Given the description of an element on the screen output the (x, y) to click on. 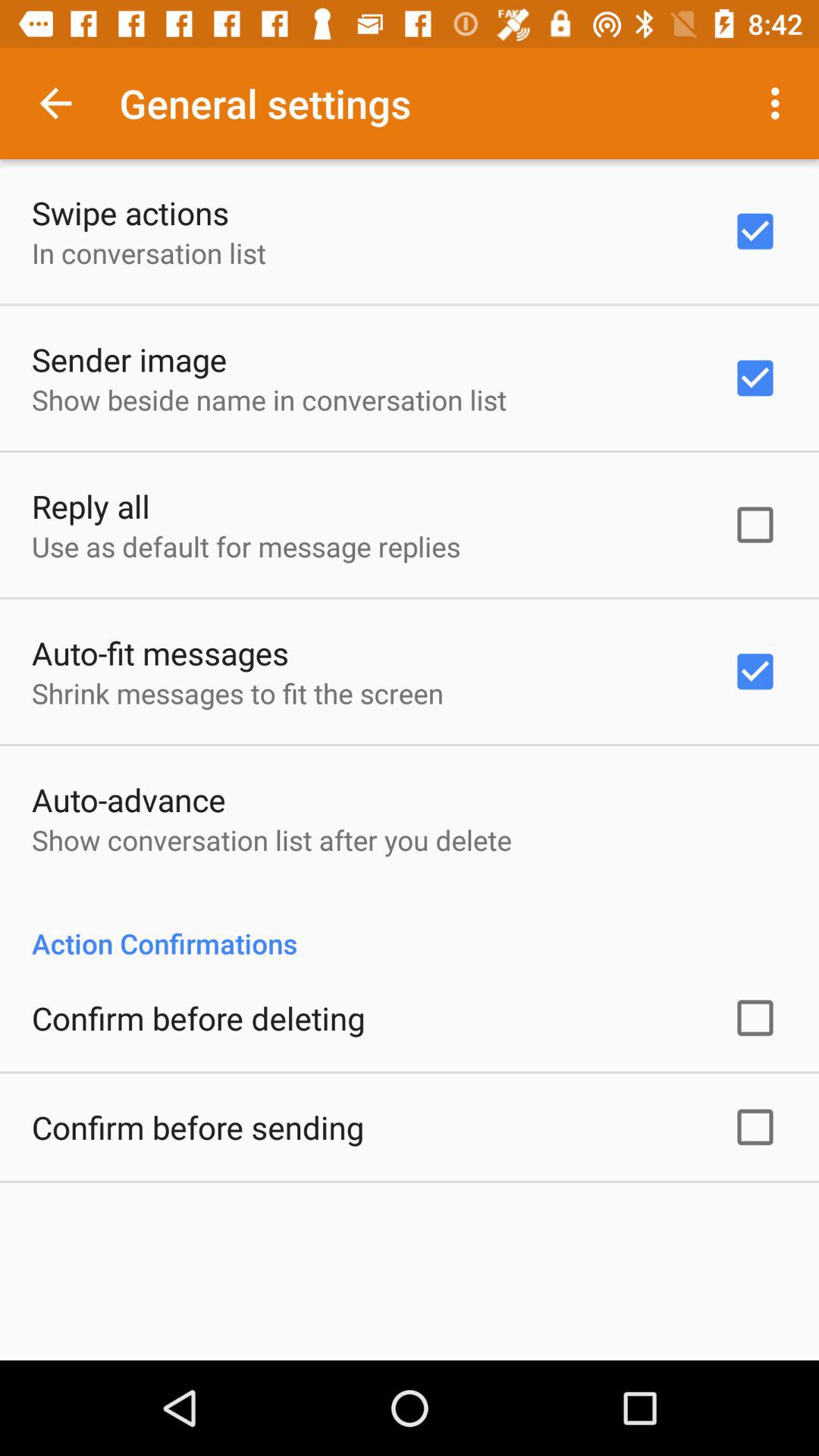
turn on the icon above the swipe actions app (55, 103)
